Given the description of an element on the screen output the (x, y) to click on. 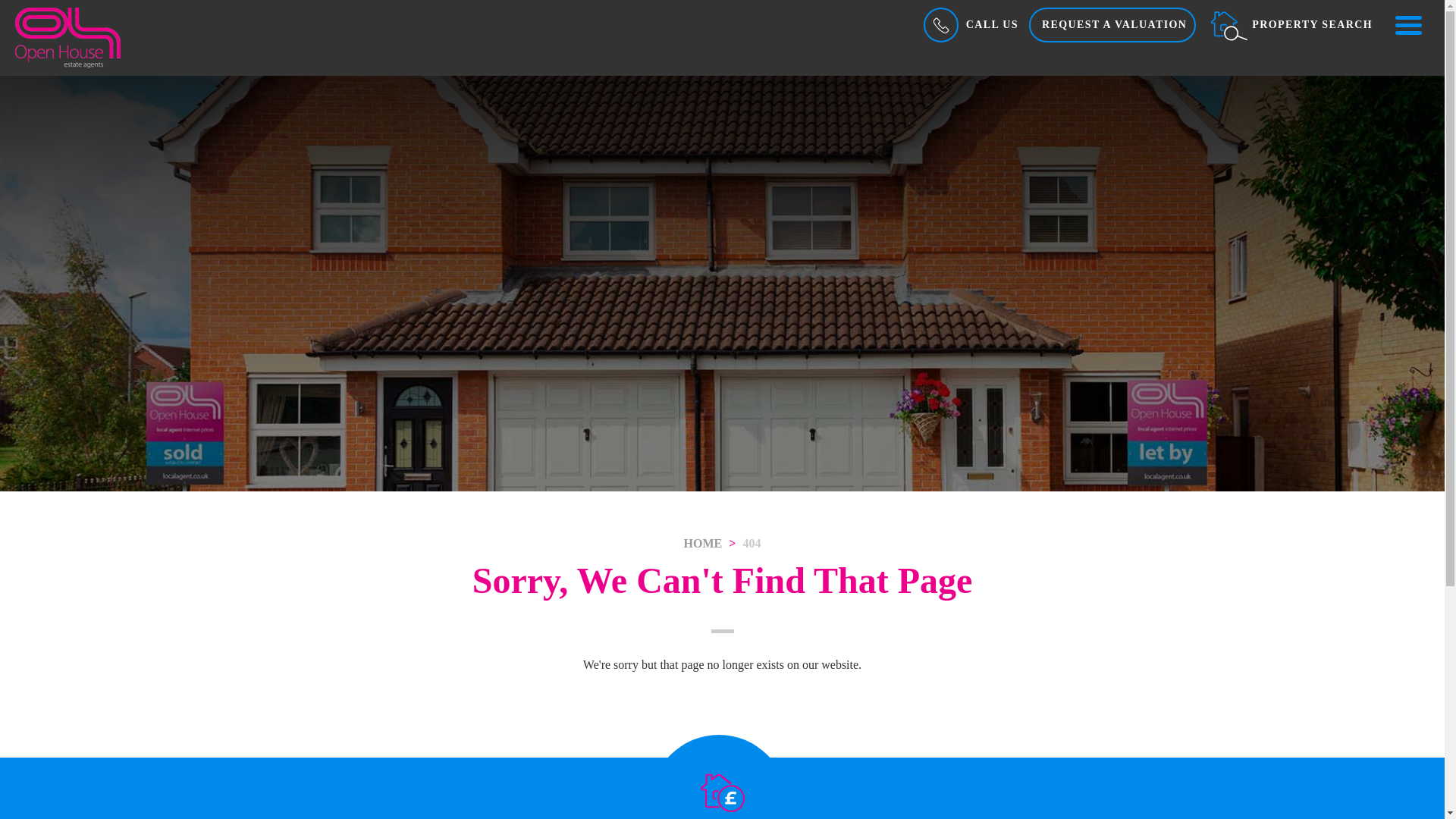
CALL US (969, 24)
PROPERTY SEARCH (1291, 24)
MENU (1406, 24)
404 (751, 543)
HOME (703, 543)
REQUEST A VALUATION (1112, 24)
